Given the description of an element on the screen output the (x, y) to click on. 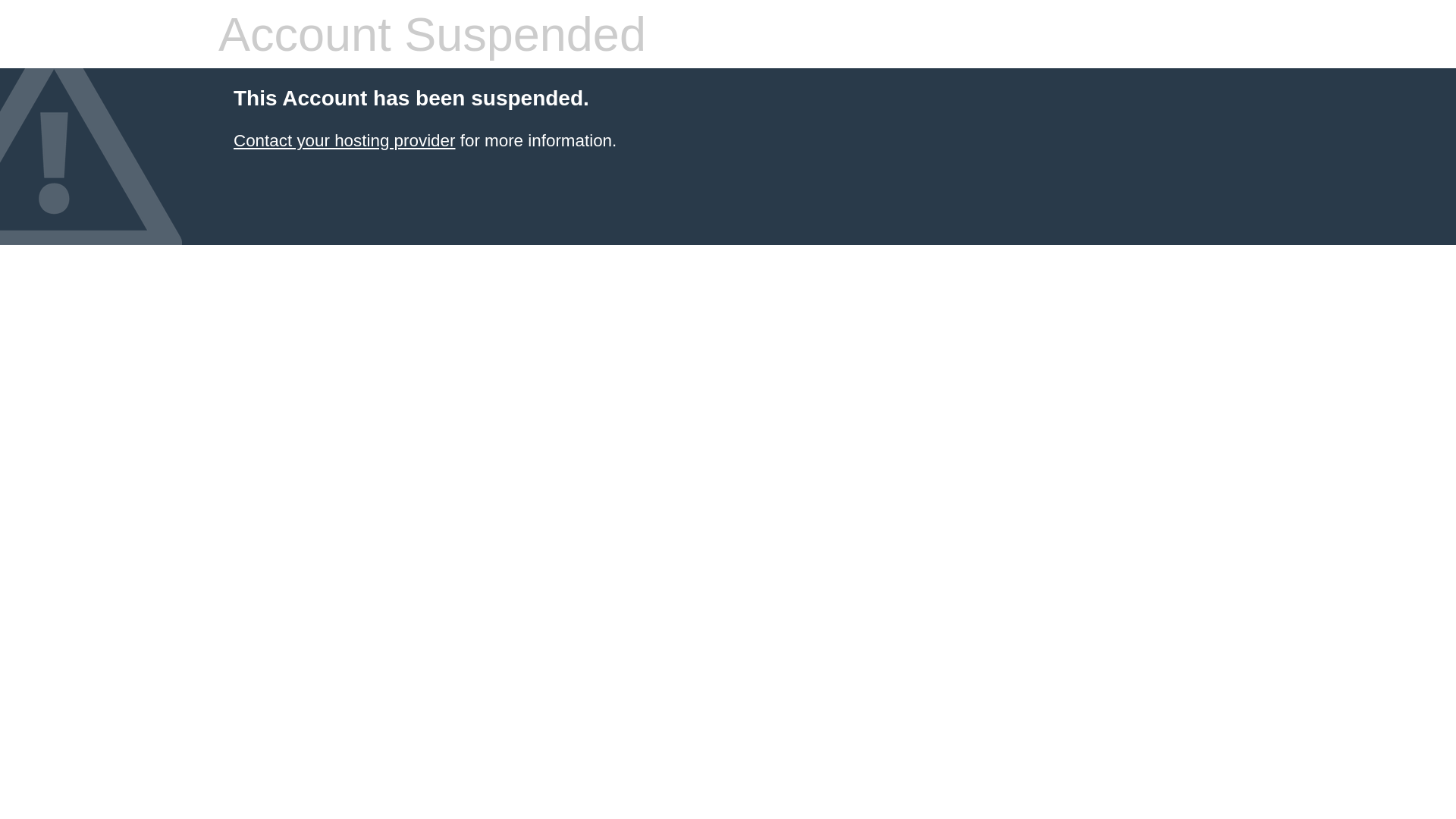
Contact your hosting provider Element type: text (344, 140)
